Given the description of an element on the screen output the (x, y) to click on. 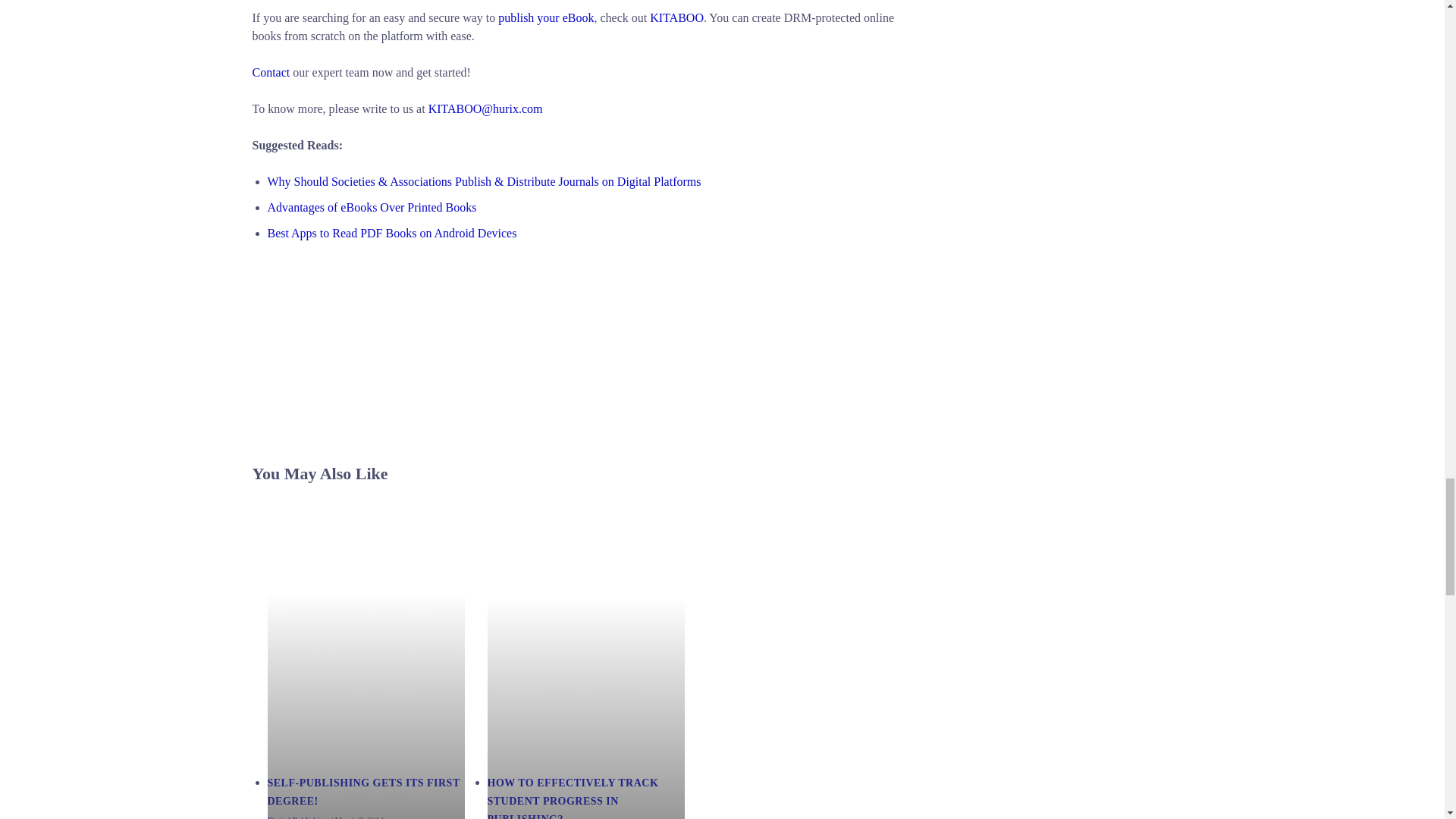
Permanent Link to Self-publishing gets its first degree! (363, 791)
